Given the description of an element on the screen output the (x, y) to click on. 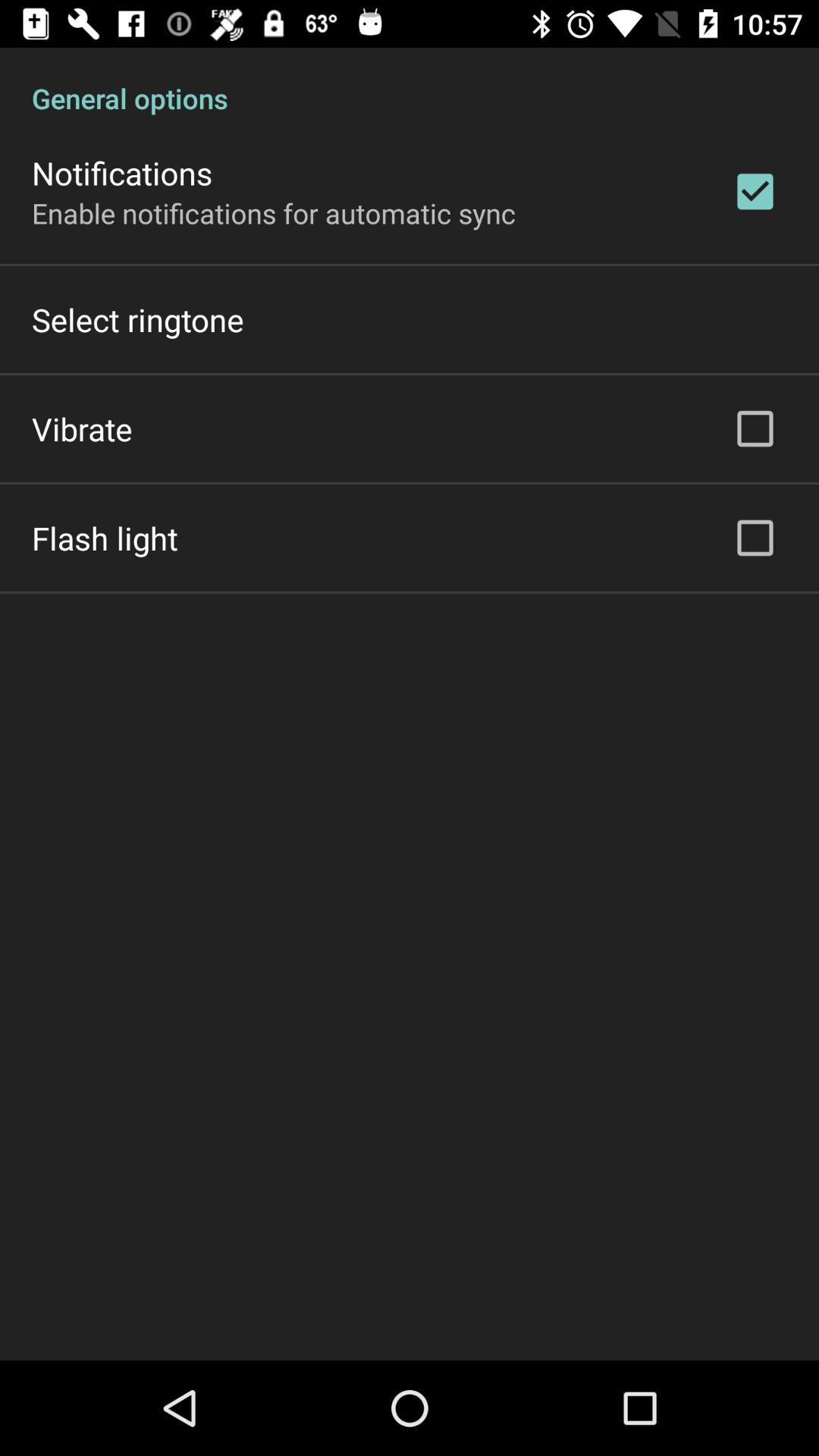
turn on the vibrate (81, 428)
